Given the description of an element on the screen output the (x, y) to click on. 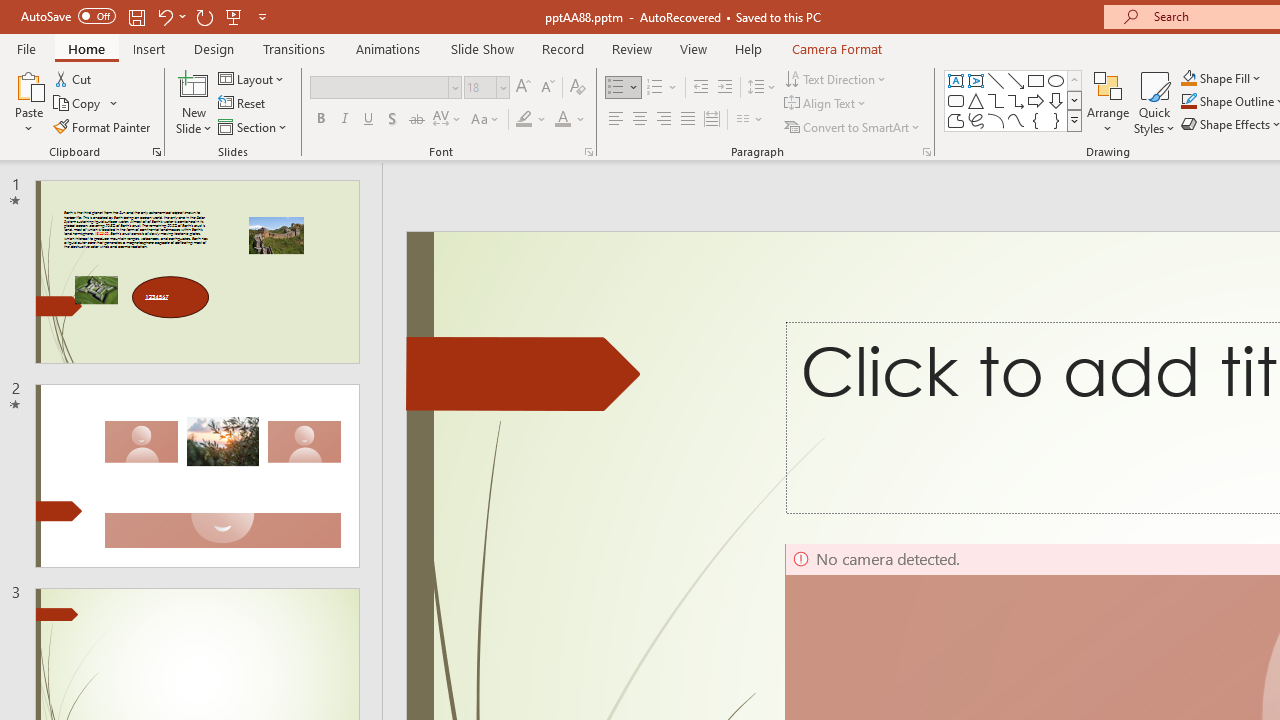
View (693, 48)
Cut (73, 78)
AutoSave (68, 16)
Increase Indent (725, 87)
Quick Access Toolbar (145, 16)
Section (254, 126)
Reset (243, 103)
Shadow (392, 119)
Left Brace (1035, 120)
Redo (204, 15)
Slide Show (481, 48)
Customize Quick Access Toolbar (262, 15)
